Given the description of an element on the screen output the (x, y) to click on. 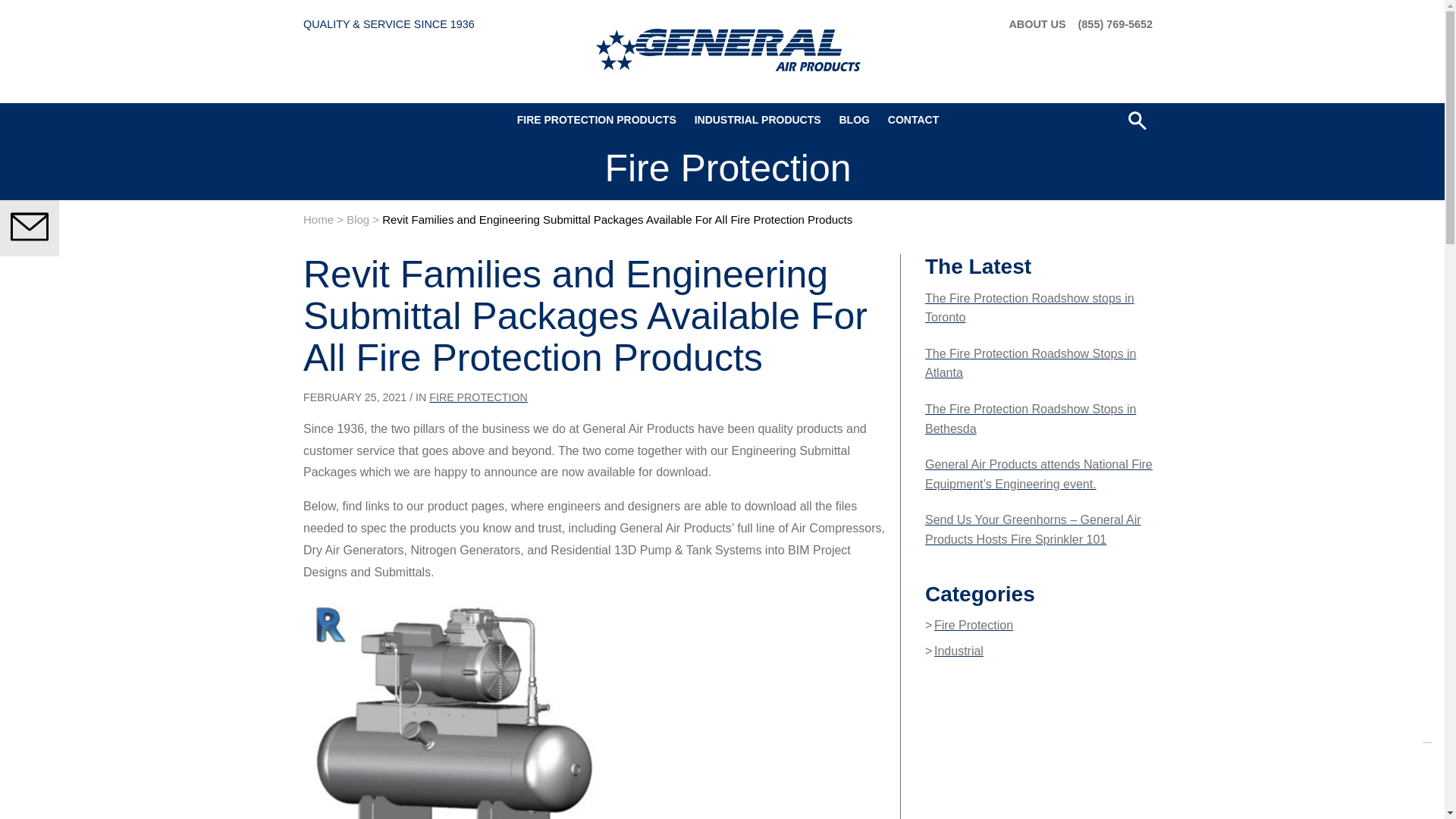
ABOUT US (1037, 24)
Home (317, 219)
Blog (357, 219)
Show Search (1137, 119)
FIRE PROTECTION (478, 397)
BLOG (853, 119)
INDUSTRIAL PRODUCTS (757, 119)
FIRE PROTECTION PRODUCTS (596, 119)
CONTACT (913, 119)
